Given the description of an element on the screen output the (x, y) to click on. 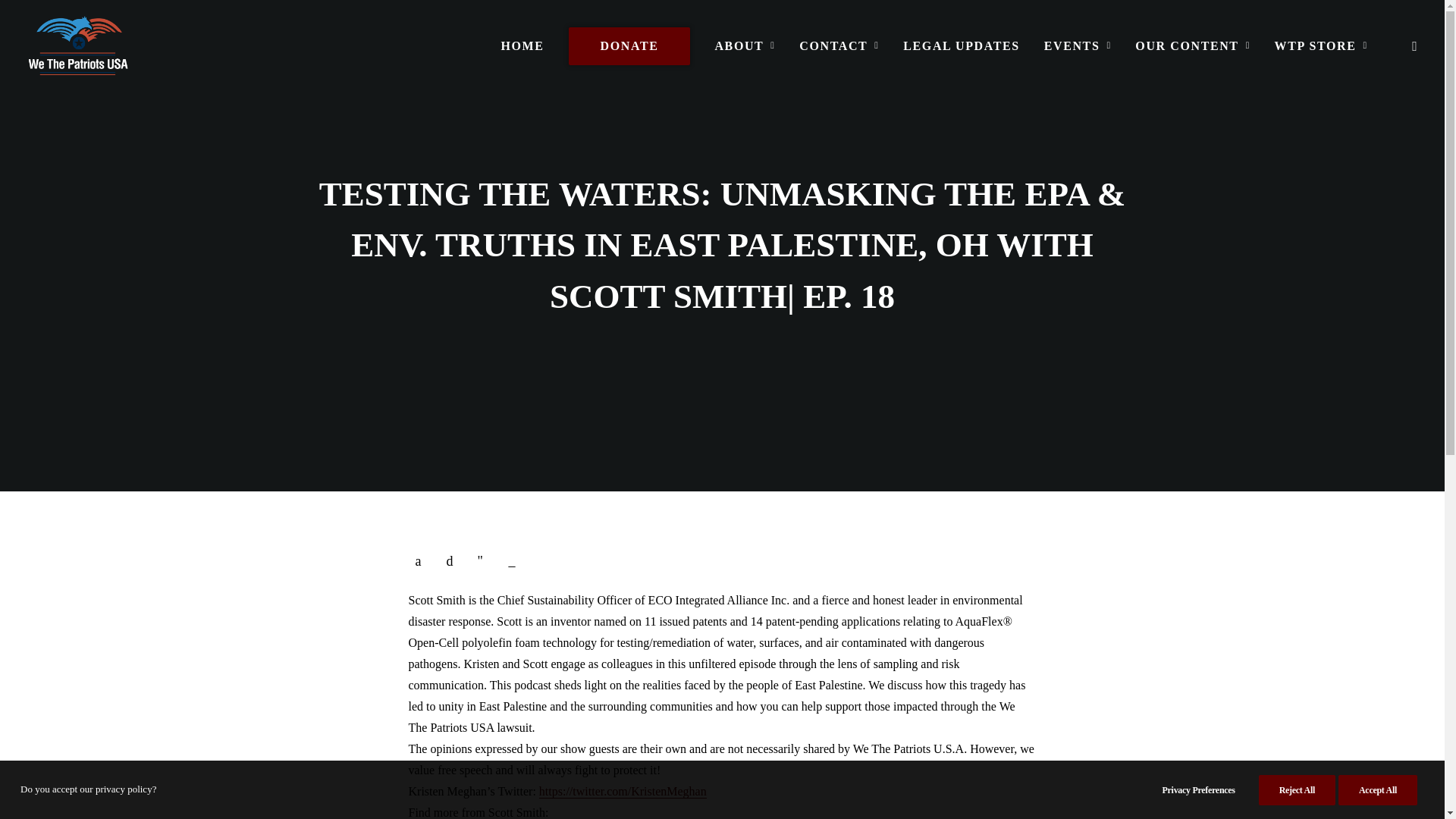
LEGAL UPDATES (960, 45)
Contact (839, 45)
ABOUT (744, 45)
Legal Updates (960, 45)
Events (1077, 45)
WTP STORE (1315, 45)
CONTACT (839, 45)
OUR CONTENT (1192, 45)
EVENTS (1077, 45)
DONATE (629, 46)
Donate (629, 46)
About (744, 45)
